Given the description of an element on the screen output the (x, y) to click on. 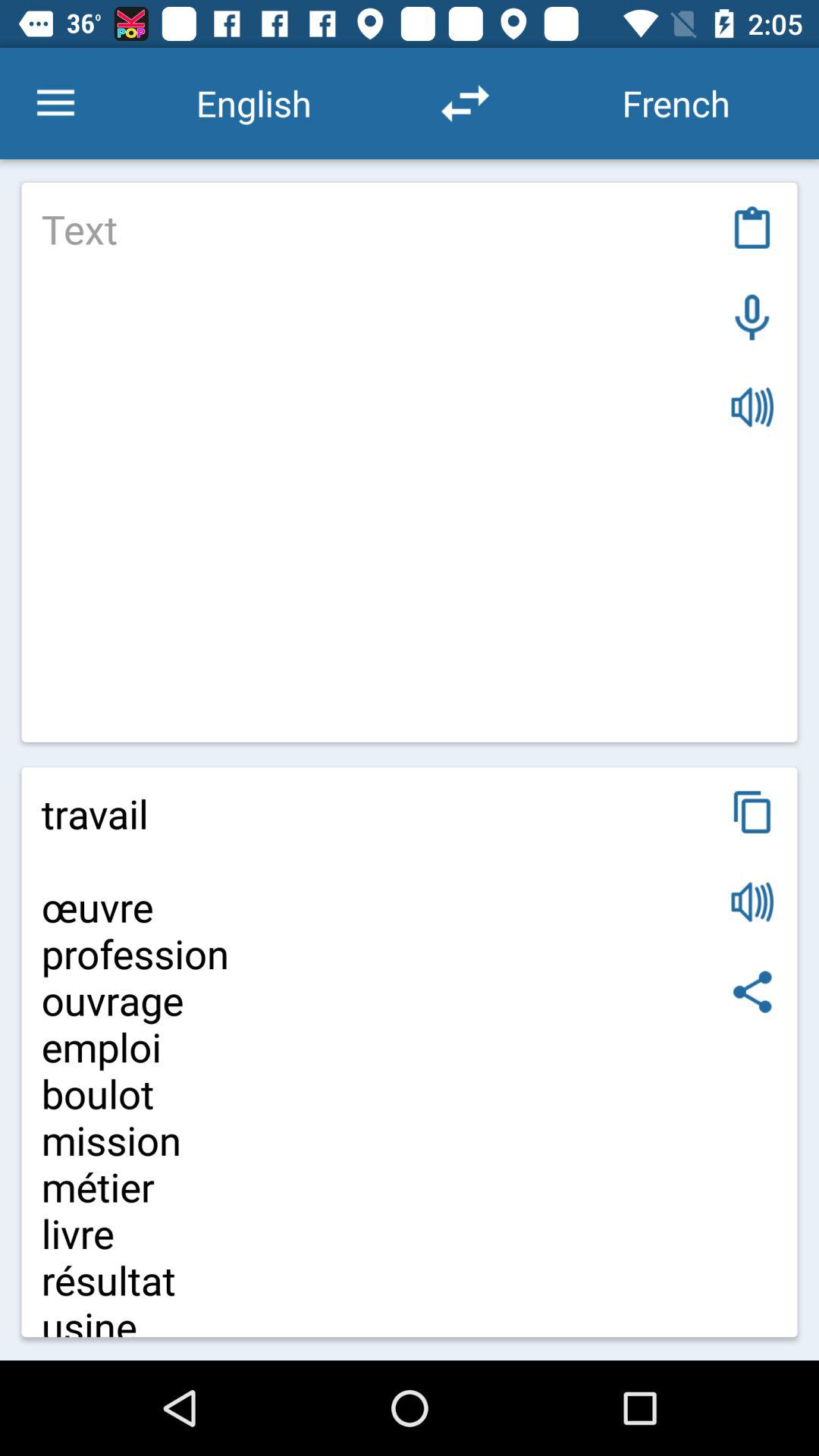
select the item below french icon (752, 227)
